Given the description of an element on the screen output the (x, y) to click on. 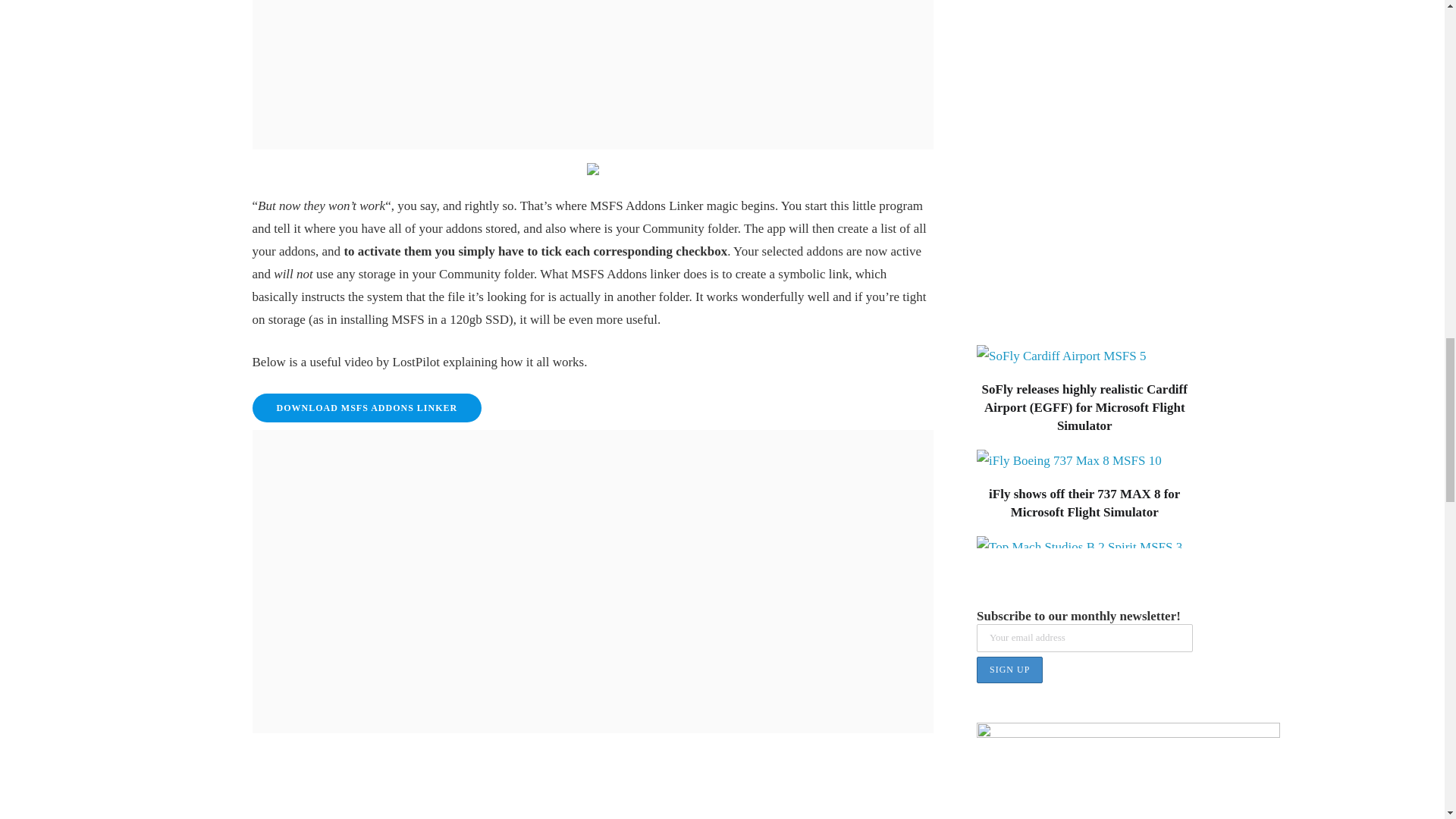
Sign up (1009, 669)
MSFS Addon Review: MSFS Addons Linker by bad2000 (592, 807)
